Given the description of an element on the screen output the (x, y) to click on. 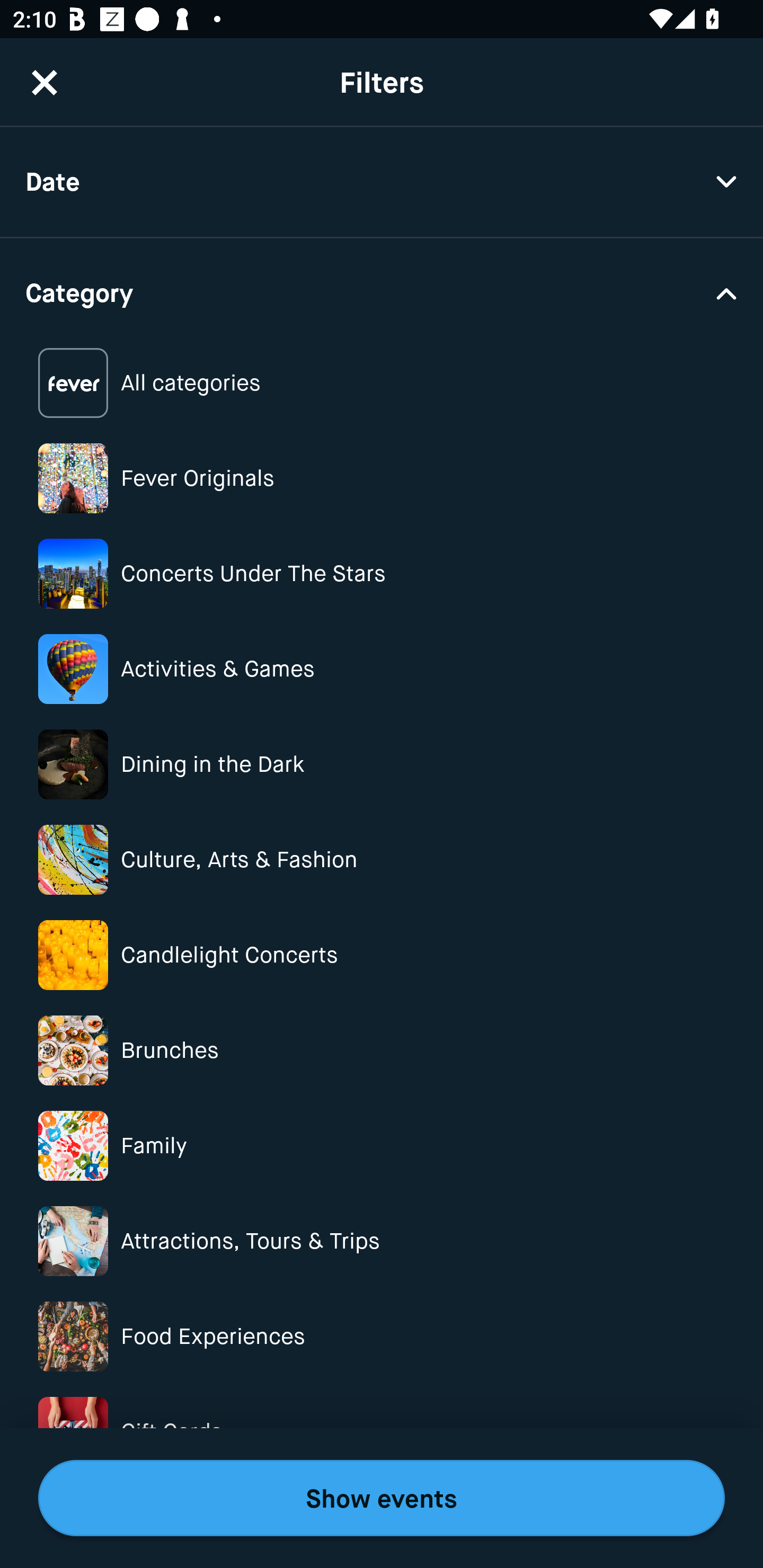
CloseButton (44, 82)
Date Drop Down Arrow (381, 182)
Category Drop Down Arrow (381, 291)
Category Image All categories (381, 382)
Category Image Fever Originals (381, 477)
Category Image Concerts Under The Stars (381, 573)
Category Image Activities & Games (381, 668)
Category Image Dining in the Dark (381, 763)
Category Image Culture, Arts & Fashion (381, 859)
Category Image Candlelight Concerts (381, 954)
Category Image Brunches (381, 1050)
Category Image Family (381, 1145)
Category Image Attractions, Tours & Trips (381, 1240)
Category Image Food Experiences (381, 1336)
Show events (381, 1497)
